Given the description of an element on the screen output the (x, y) to click on. 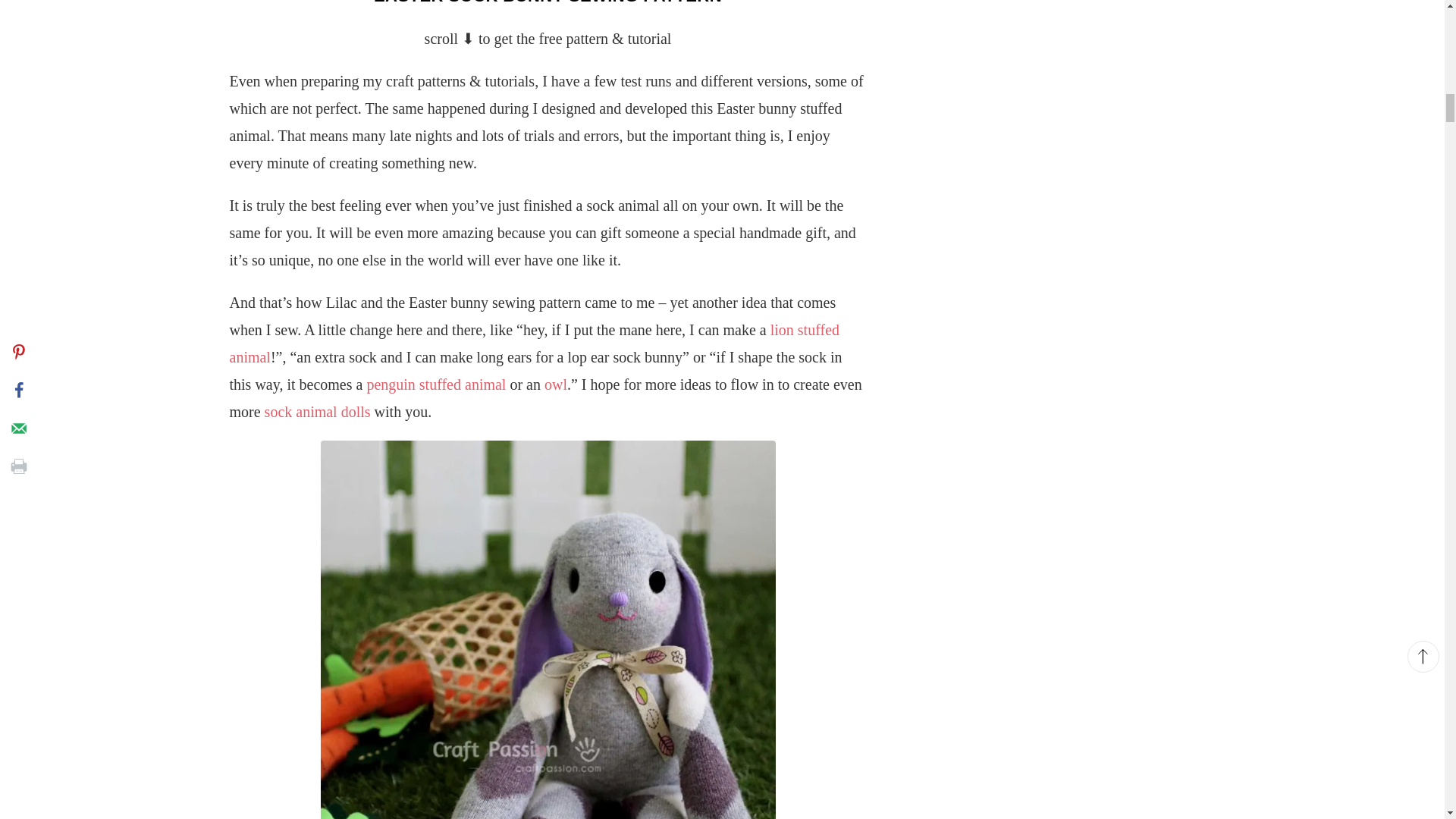
penguin stuffed animal (435, 384)
lion stuffed animal (534, 343)
owl (555, 384)
sock animal dolls (317, 411)
